Given the description of an element on the screen output the (x, y) to click on. 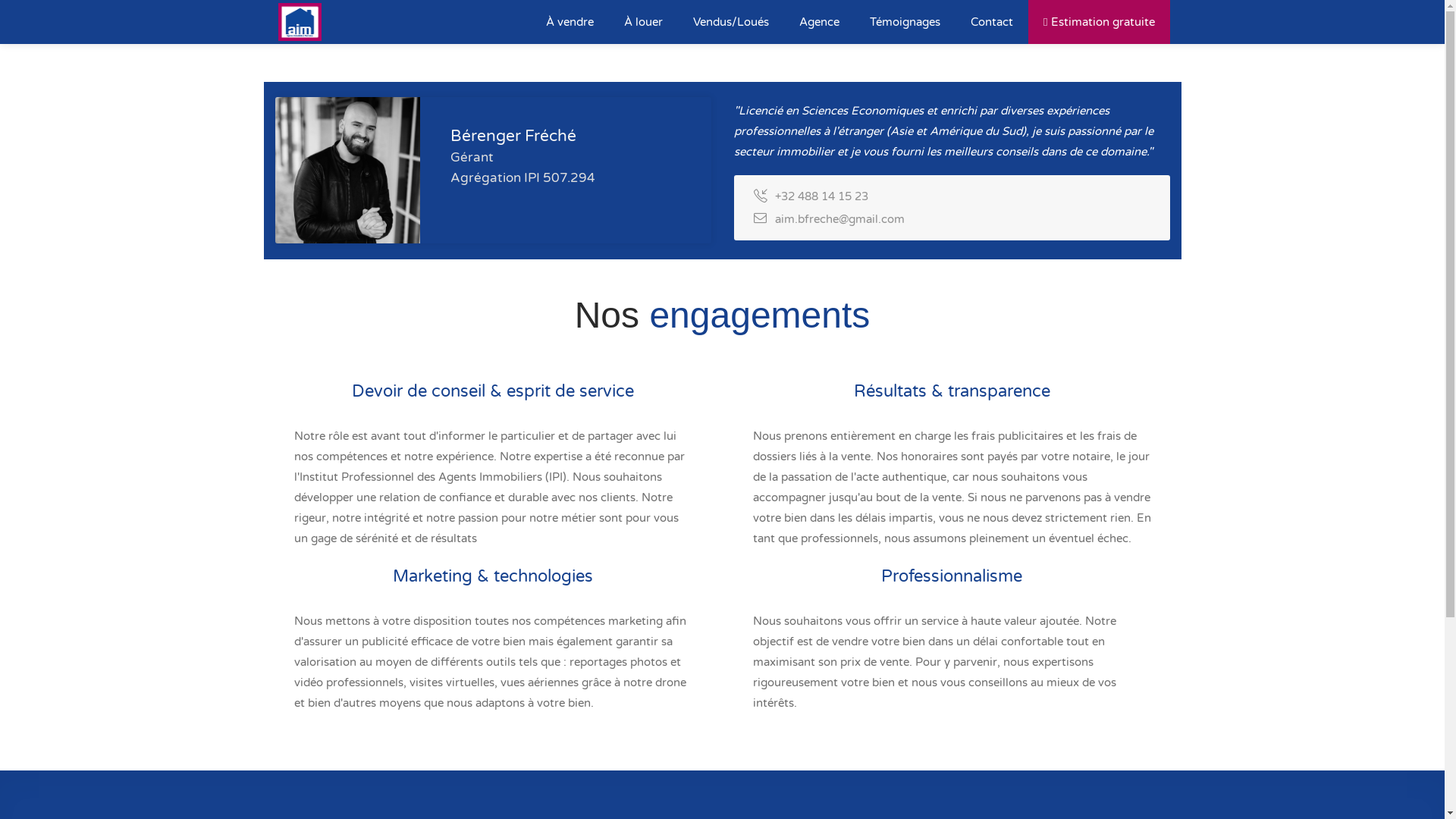
Contact Element type: text (991, 21)
Agence Element type: text (819, 21)
Estimation gratuite Element type: text (1098, 21)
aim.bfreche@gmail.com Element type: text (839, 218)
+32 488 14 15 23 Element type: text (821, 196)
